Given the description of an element on the screen output the (x, y) to click on. 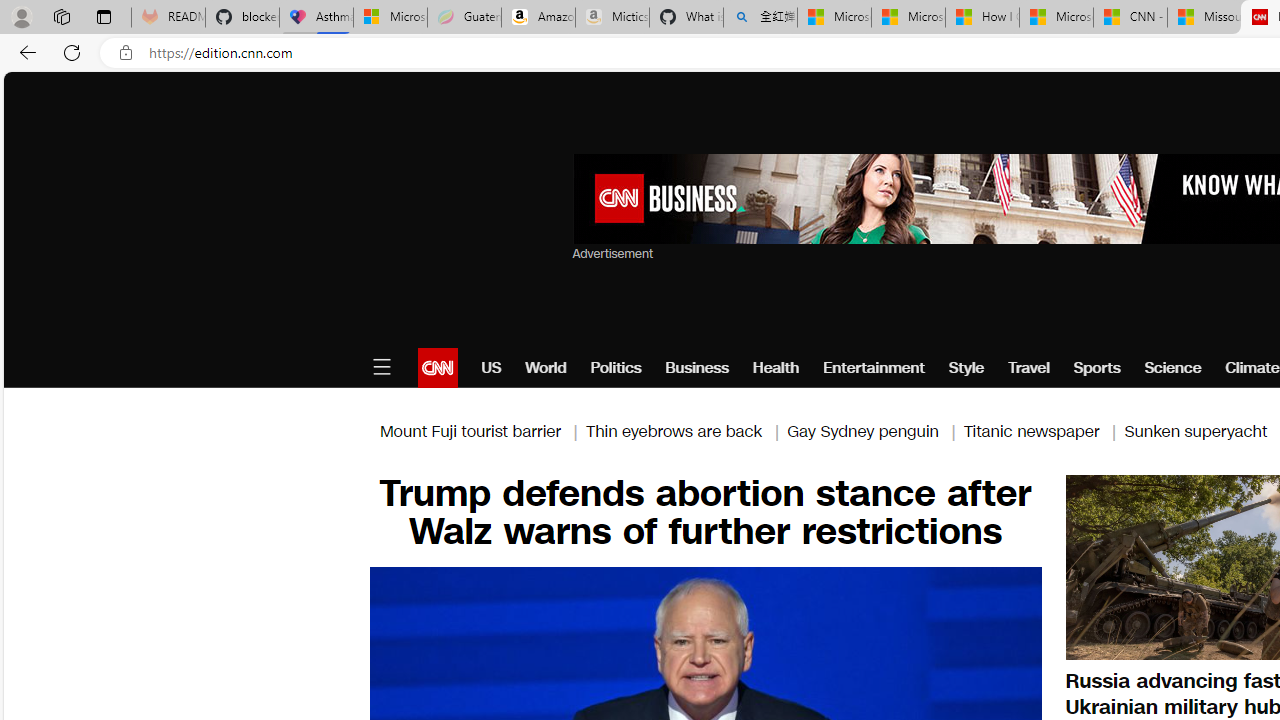
World (545, 367)
Gay Sydney penguin | (875, 430)
Mount Fuji tourist barrier | (482, 430)
CNN - MSN (1130, 17)
Titanic newspaper | (1043, 430)
